Given the description of an element on the screen output the (x, y) to click on. 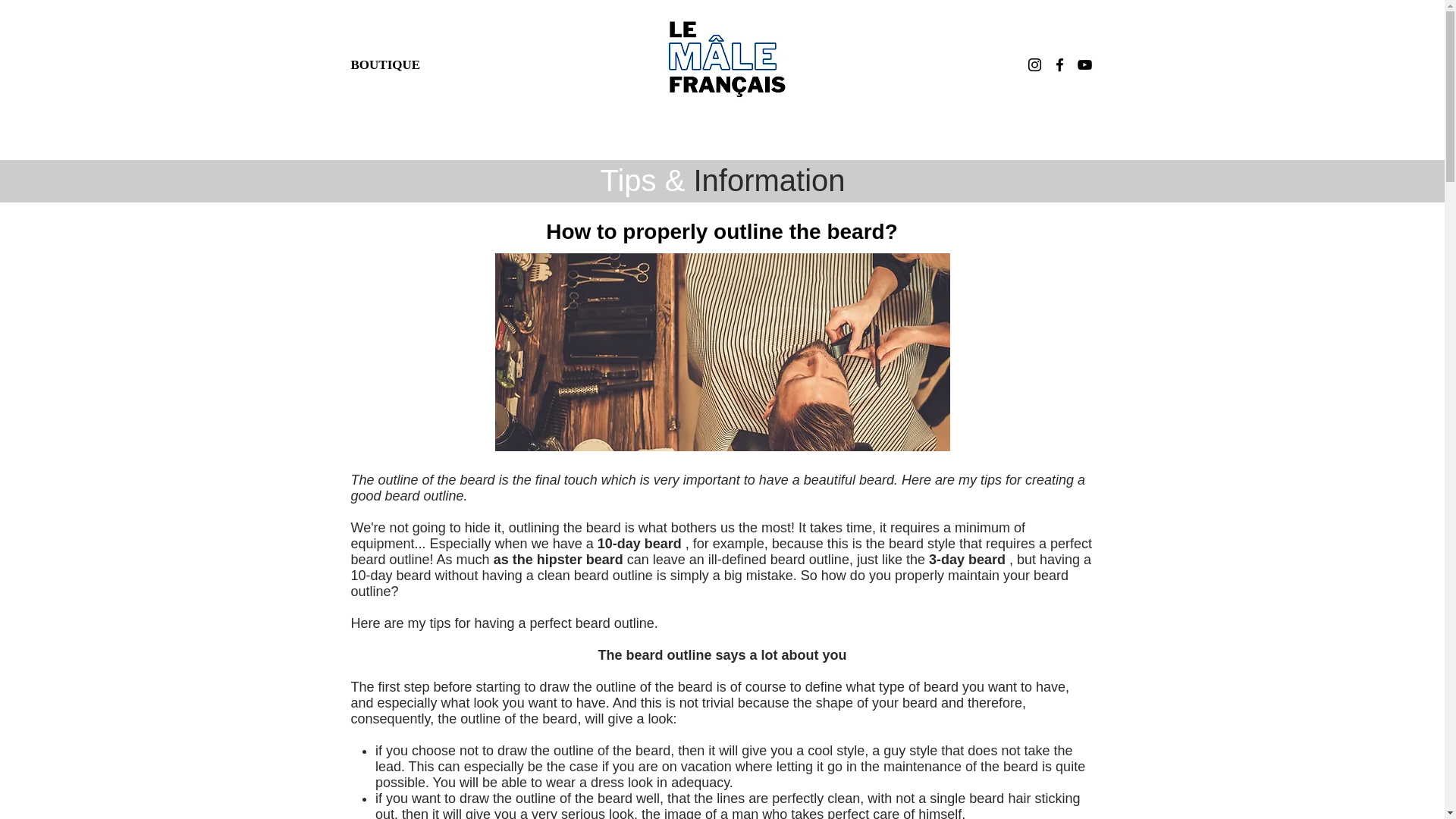
3-day beard (967, 559)
as the hipster beard (558, 559)
10-day beard (638, 543)
BOUTIQUE (385, 64)
